Given the description of an element on the screen output the (x, y) to click on. 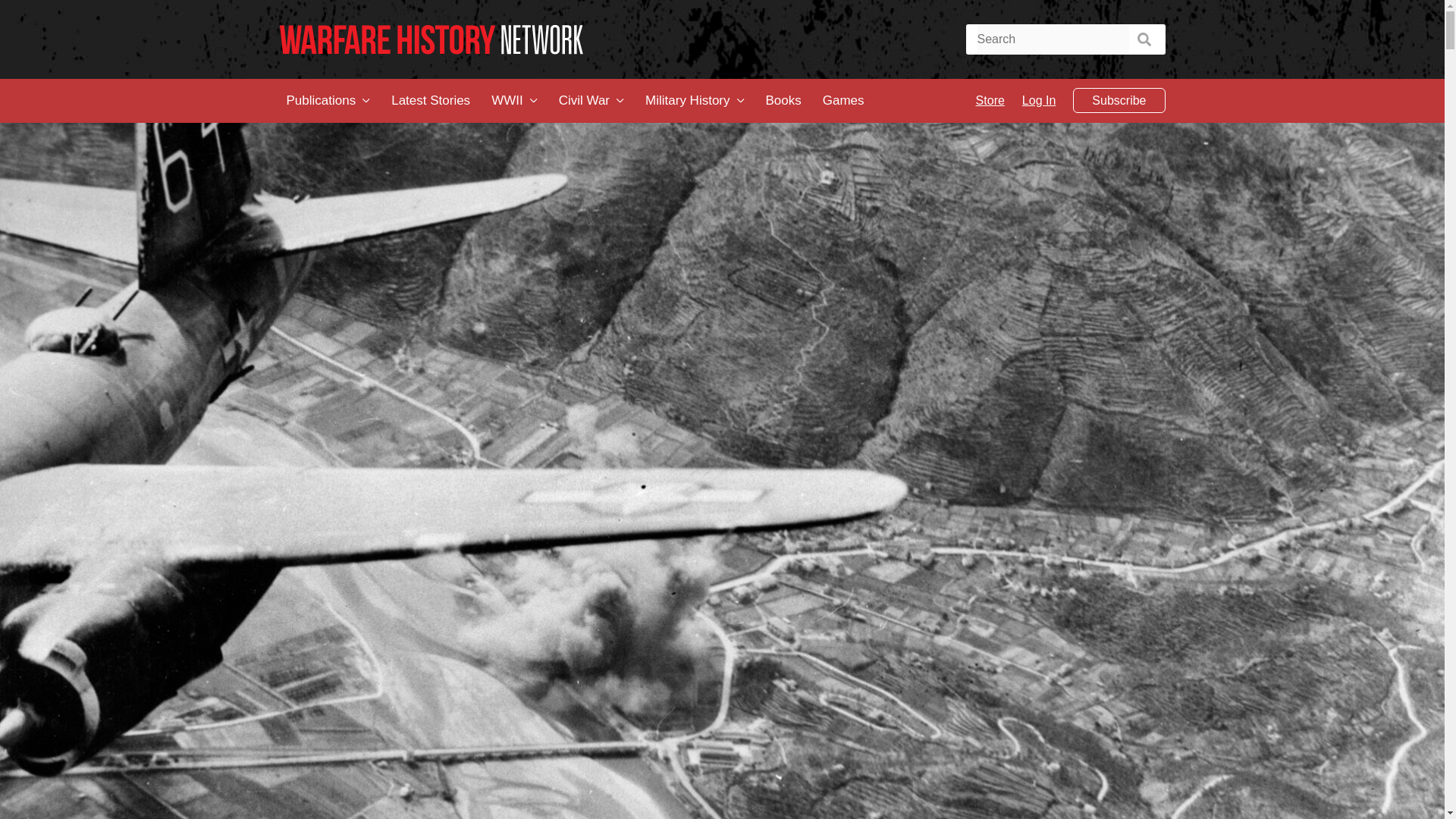
Search (1143, 39)
Latest Stories (430, 100)
Publications (321, 100)
Civil War (584, 100)
Military History (687, 100)
